Given the description of an element on the screen output the (x, y) to click on. 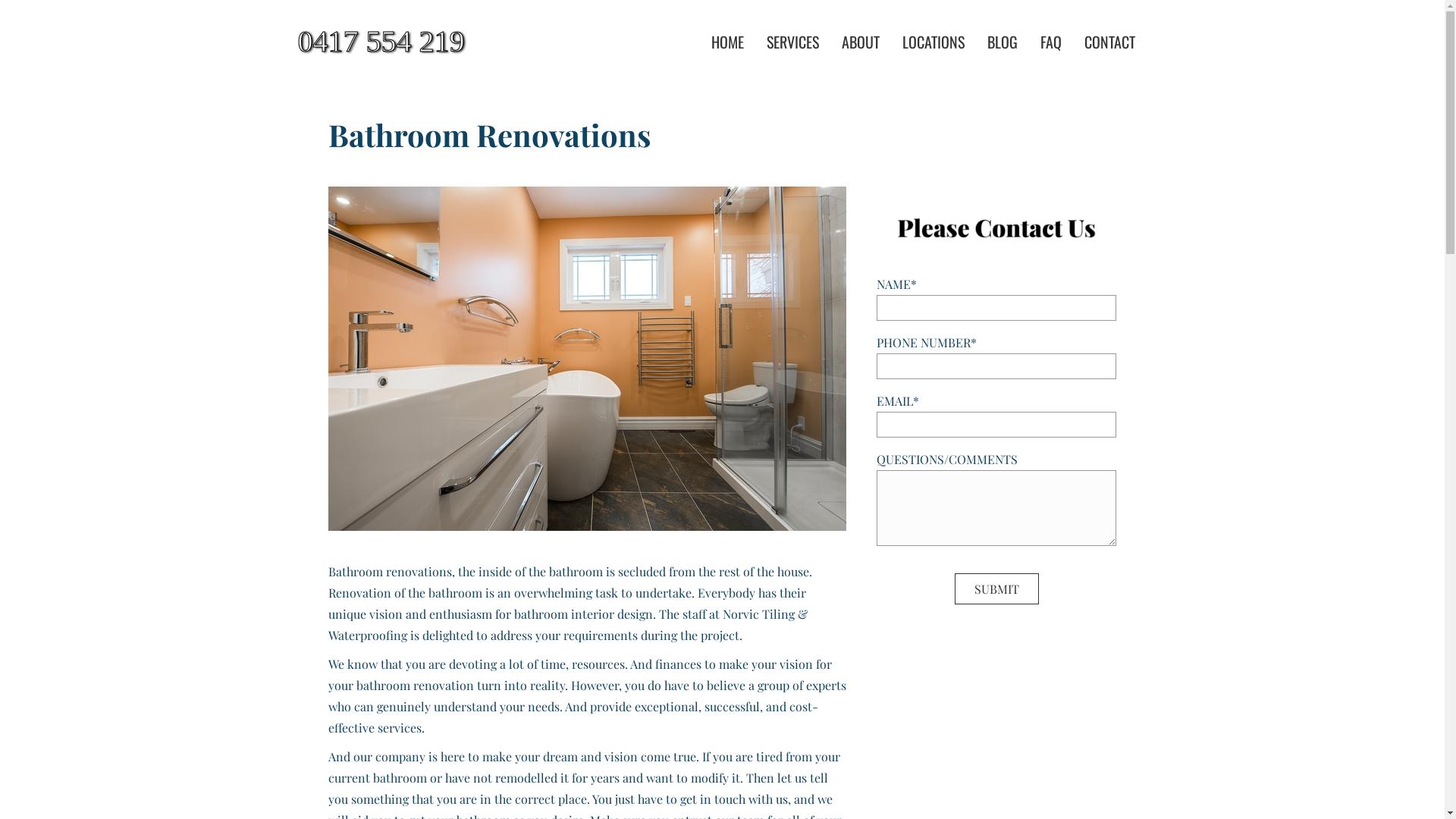
SUBMIT Element type: text (996, 588)
0417 554 219 Element type: text (432, 41)
ABOUT Element type: text (860, 41)
SERVICES Element type: text (792, 41)
FAQ Element type: text (1051, 41)
HOME Element type: text (727, 41)
CONTACT Element type: text (1109, 41)
LOCATIONS Element type: text (933, 41)
Please-Contact-Us Element type: hover (996, 226)
BLOG Element type: text (1002, 41)
